Given the description of an element on the screen output the (x, y) to click on. 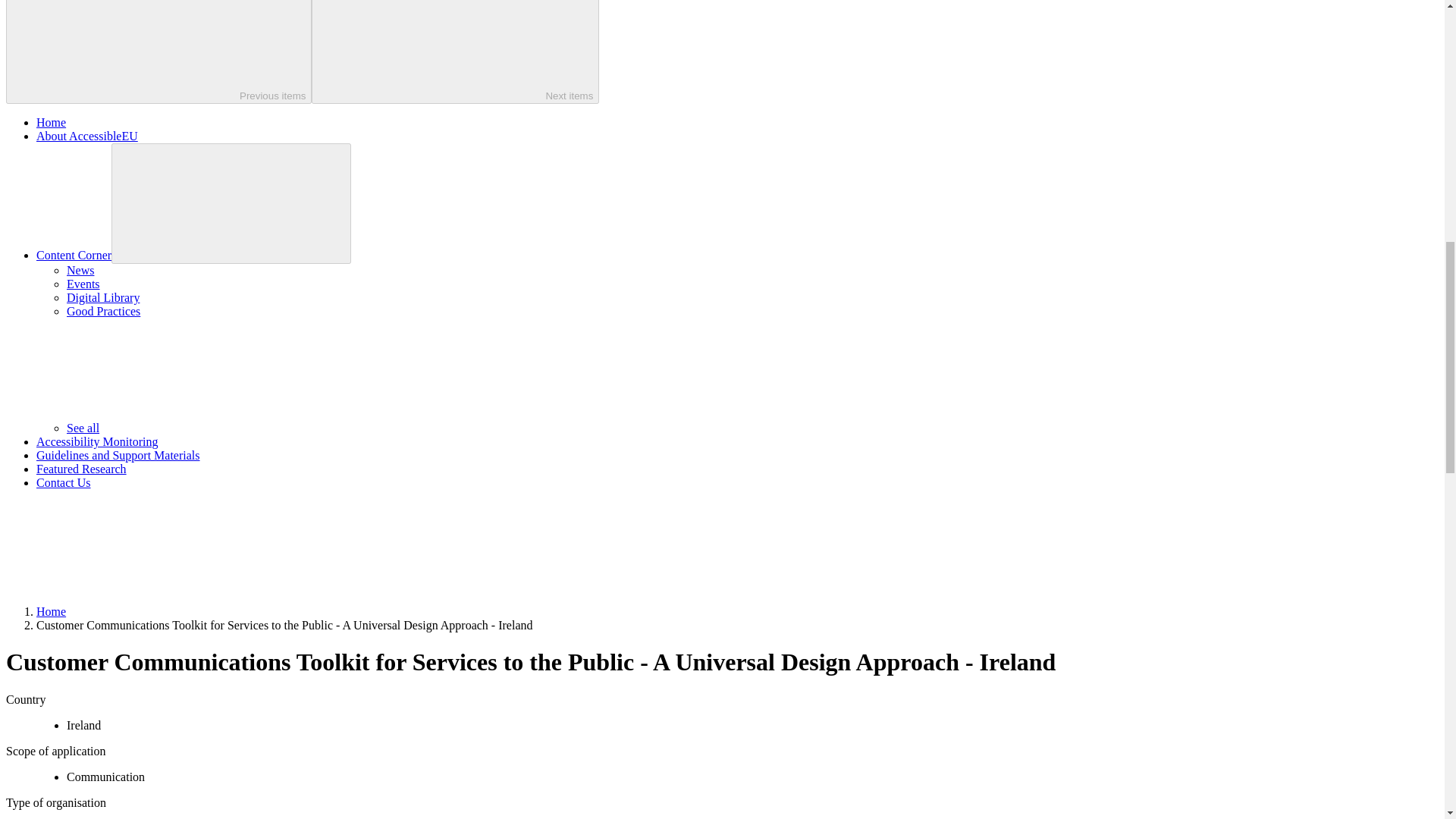
Next items (454, 52)
Accessibility Monitoring (96, 440)
Digital Library (102, 297)
Content Corner (74, 254)
About AccessibleEU (87, 135)
News (80, 269)
Good Practices (102, 310)
Home (50, 611)
Home (50, 122)
Guidelines and Support Materials (118, 454)
